Given the description of an element on the screen output the (x, y) to click on. 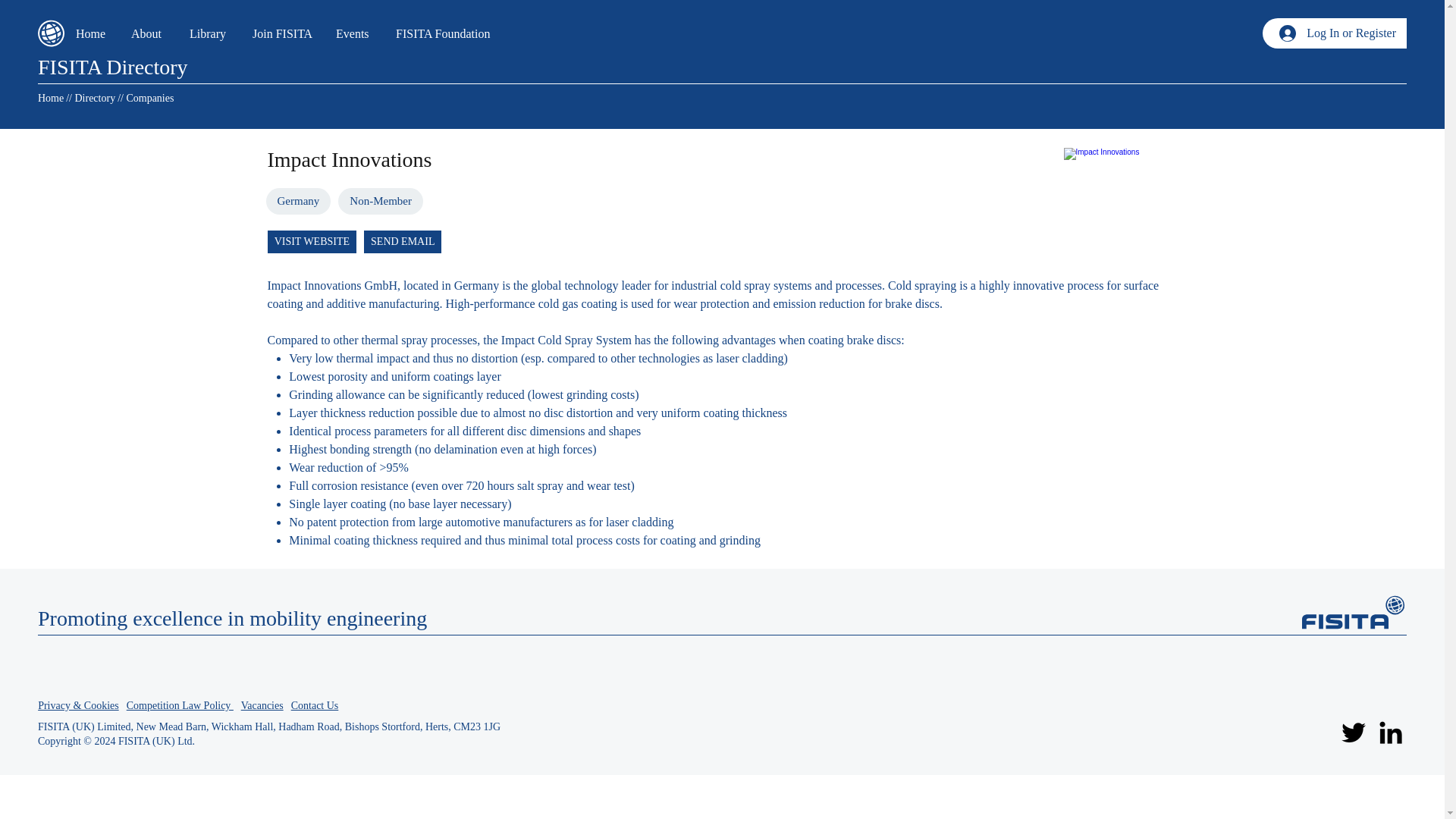
Home (91, 33)
Home (50, 98)
Library (209, 33)
SEND EMAIL (402, 241)
Join FISITA (282, 33)
Log In or Register (1337, 32)
Events (354, 33)
FISITA Foundation (446, 33)
VISIT WEBSITE (311, 241)
About (148, 33)
